Given the description of an element on the screen output the (x, y) to click on. 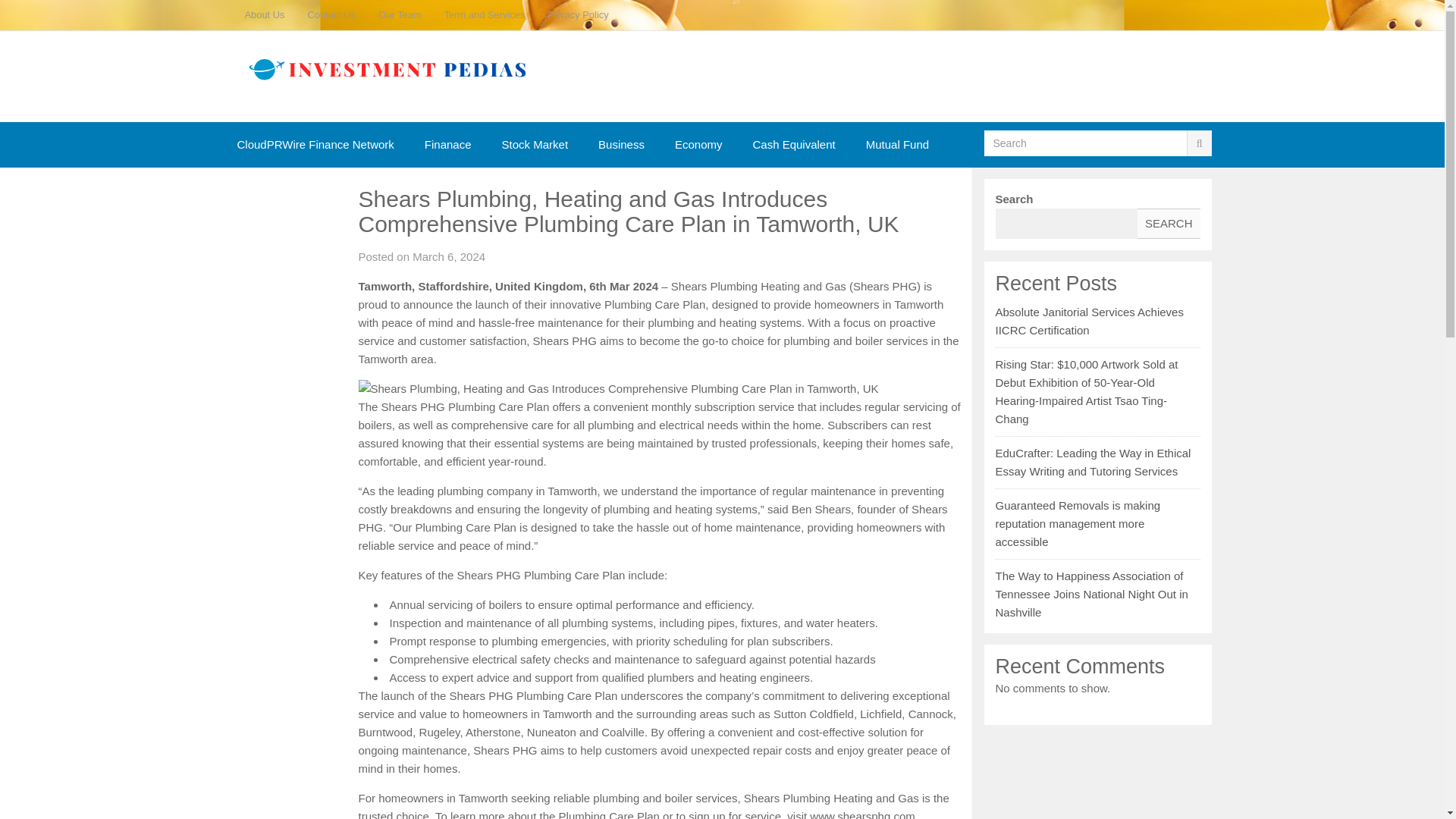
Privacy Policy (577, 15)
Economy (698, 144)
Term and Services (484, 15)
Stock Market (534, 144)
SEARCH (1168, 223)
Mutual Fund (896, 144)
Business (621, 144)
Finanace (447, 144)
CloudPRWire Finance Network (315, 144)
Our Team (399, 15)
About Us (264, 15)
Absolute Janitorial Services Achieves IICRC Certification (1088, 320)
